Given the description of an element on the screen output the (x, y) to click on. 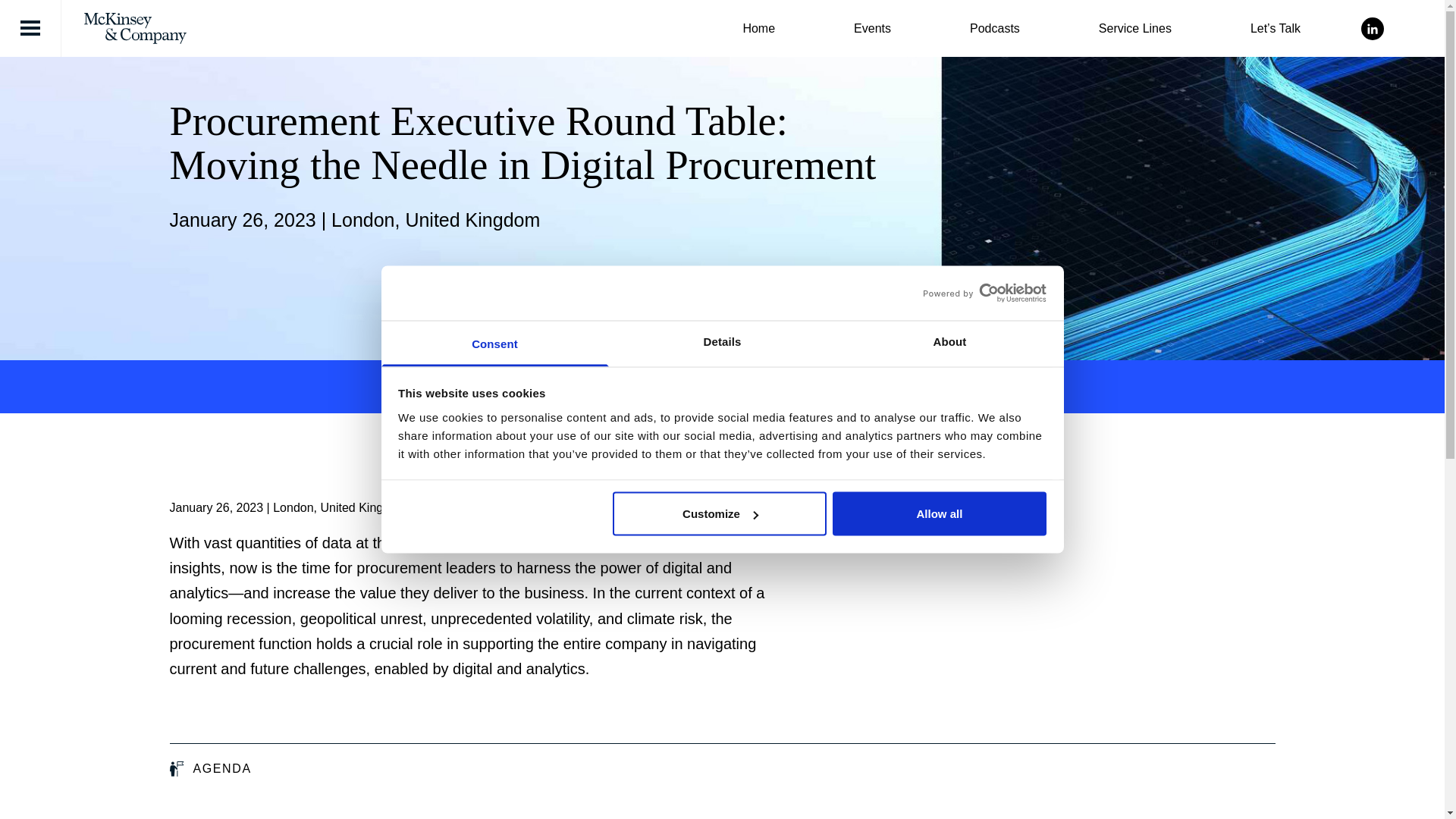
Customize (719, 514)
Consent (494, 343)
Details (721, 343)
About (948, 343)
